Given the description of an element on the screen output the (x, y) to click on. 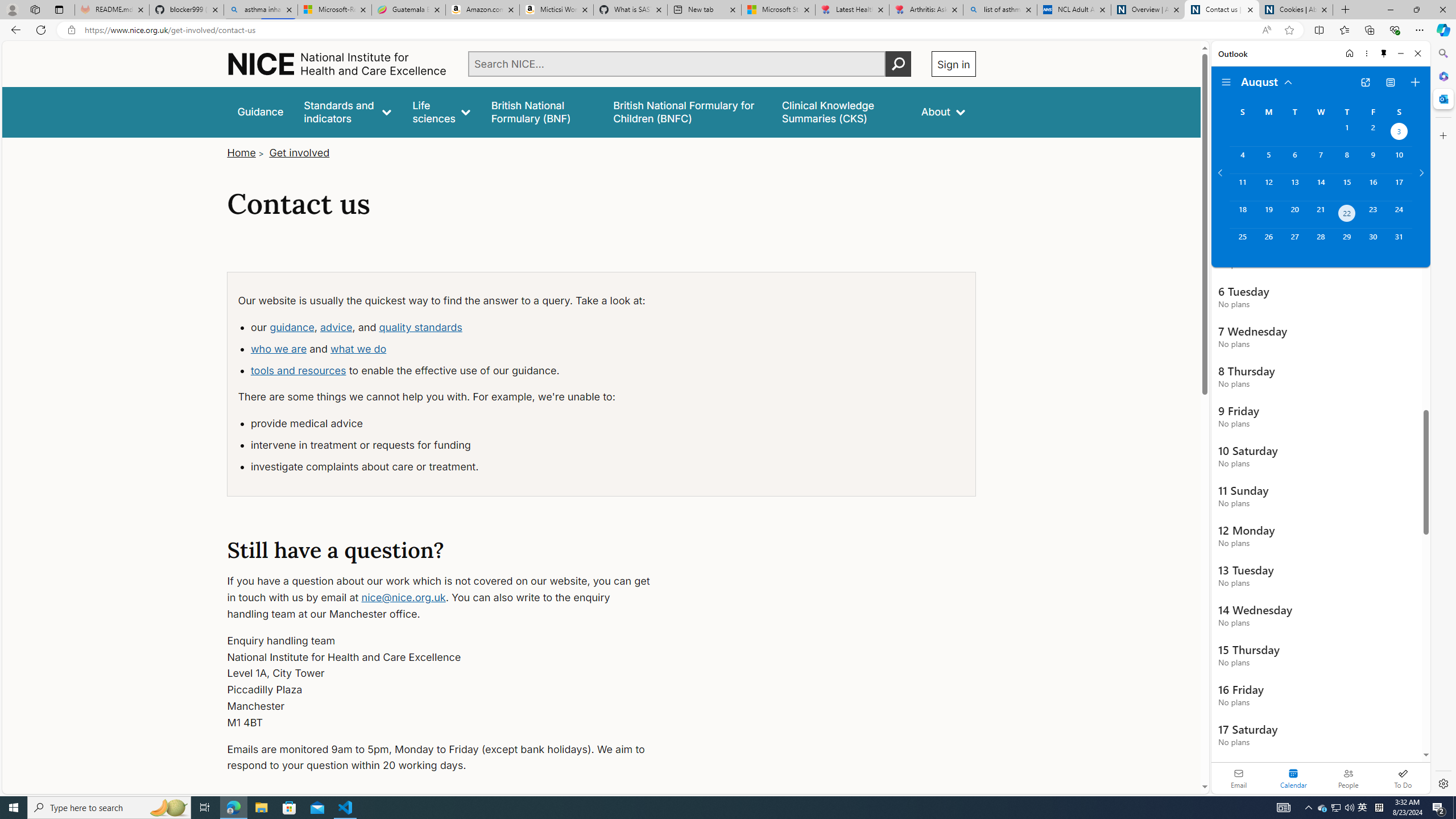
who we are and what we do (454, 348)
Saturday, August 10, 2024.  (1399, 159)
Thursday, August 22, 2024. Today.  (1346, 214)
Tuesday, August 27, 2024.  (1294, 241)
false (841, 111)
Monday, August 19, 2024.  (1268, 214)
who we are (278, 348)
Friday, August 16, 2024.  (1372, 186)
